Given the description of an element on the screen output the (x, y) to click on. 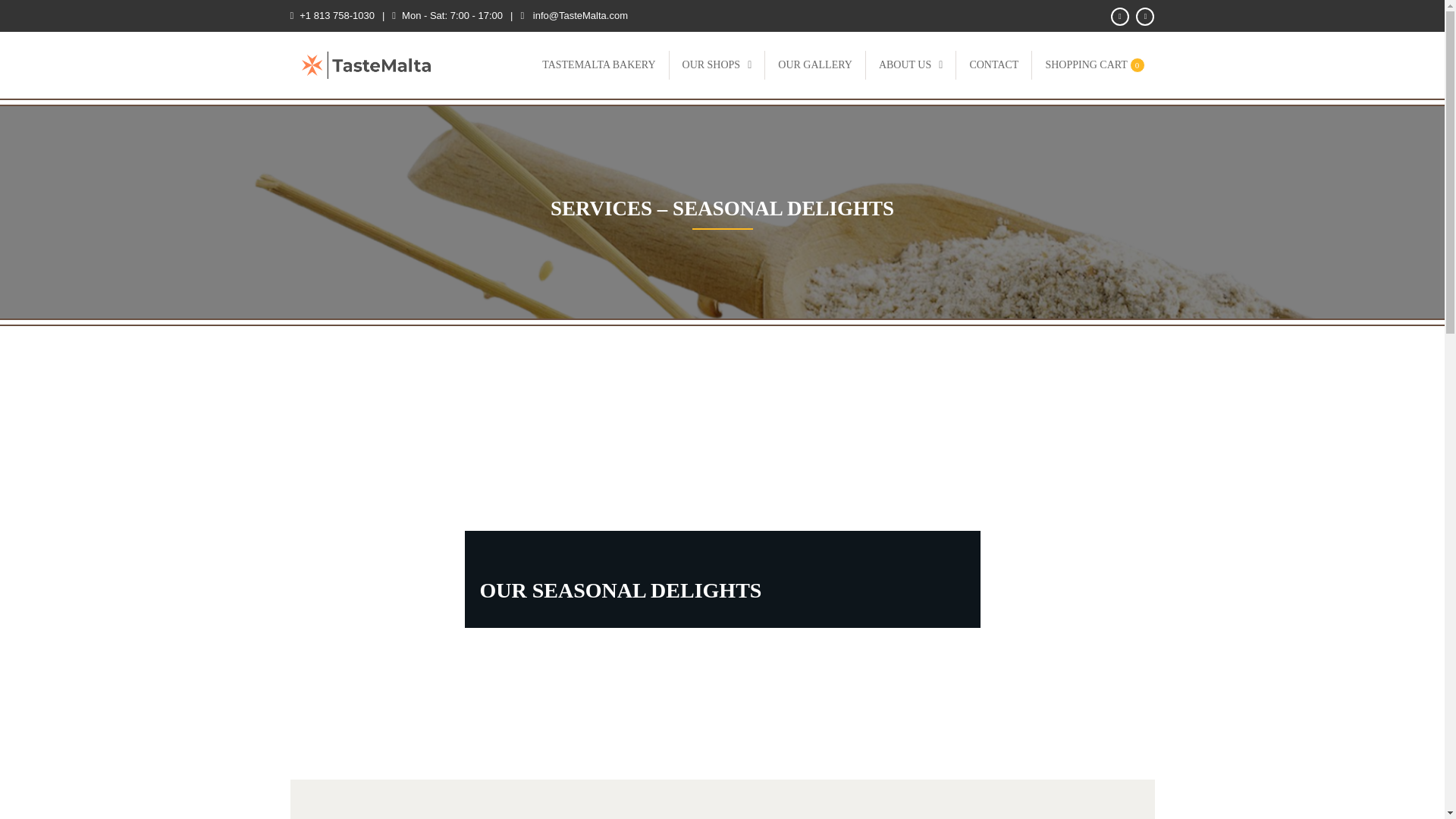
OUR GALLERY (814, 64)
ABOUT US (911, 64)
CONTACT (993, 64)
TASTEMALTA BAKERY (598, 64)
OUR SHOPS (1093, 64)
